Given the description of an element on the screen output the (x, y) to click on. 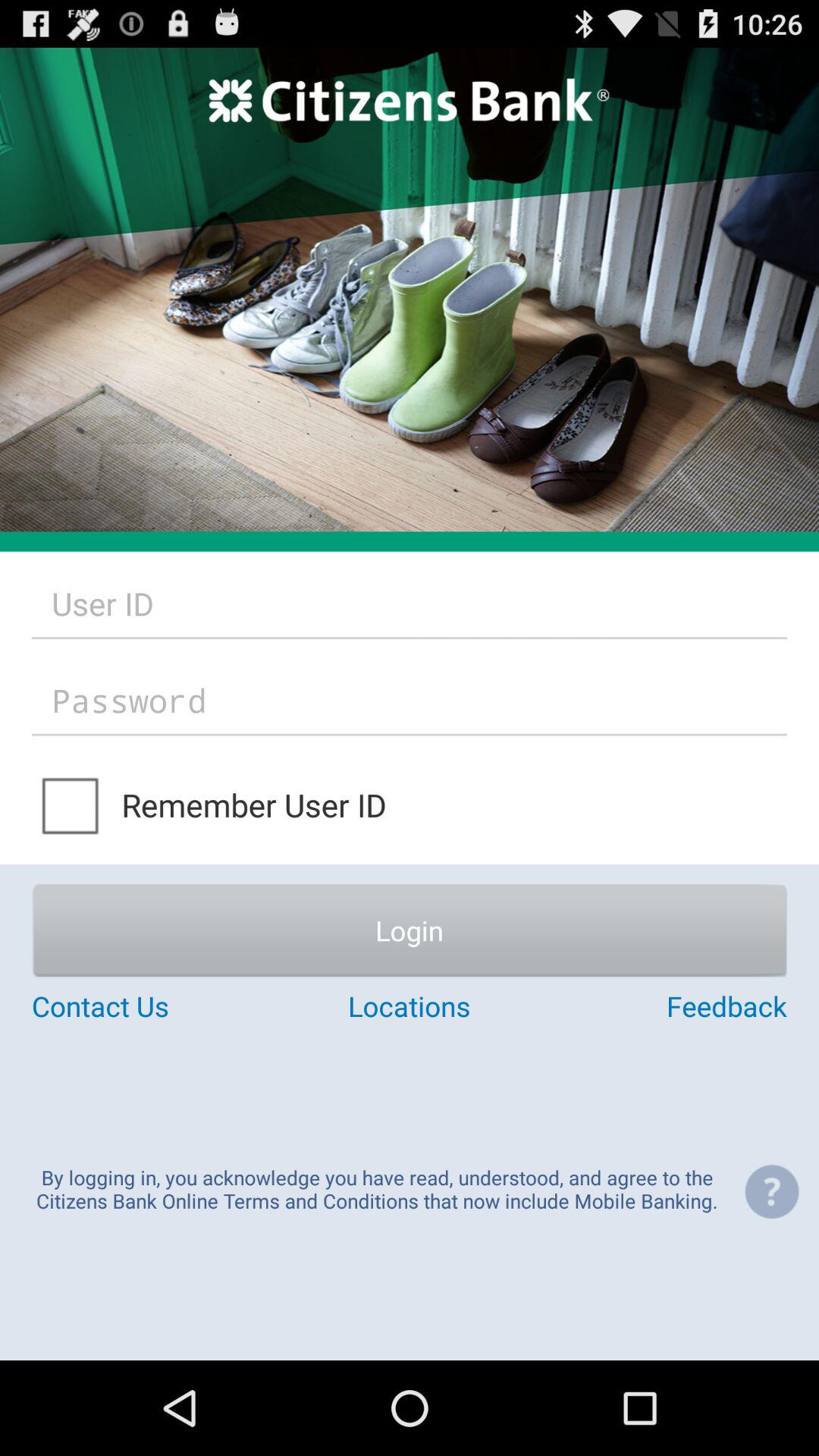
launch icon to the left of the locations item (157, 1005)
